Given the description of an element on the screen output the (x, y) to click on. 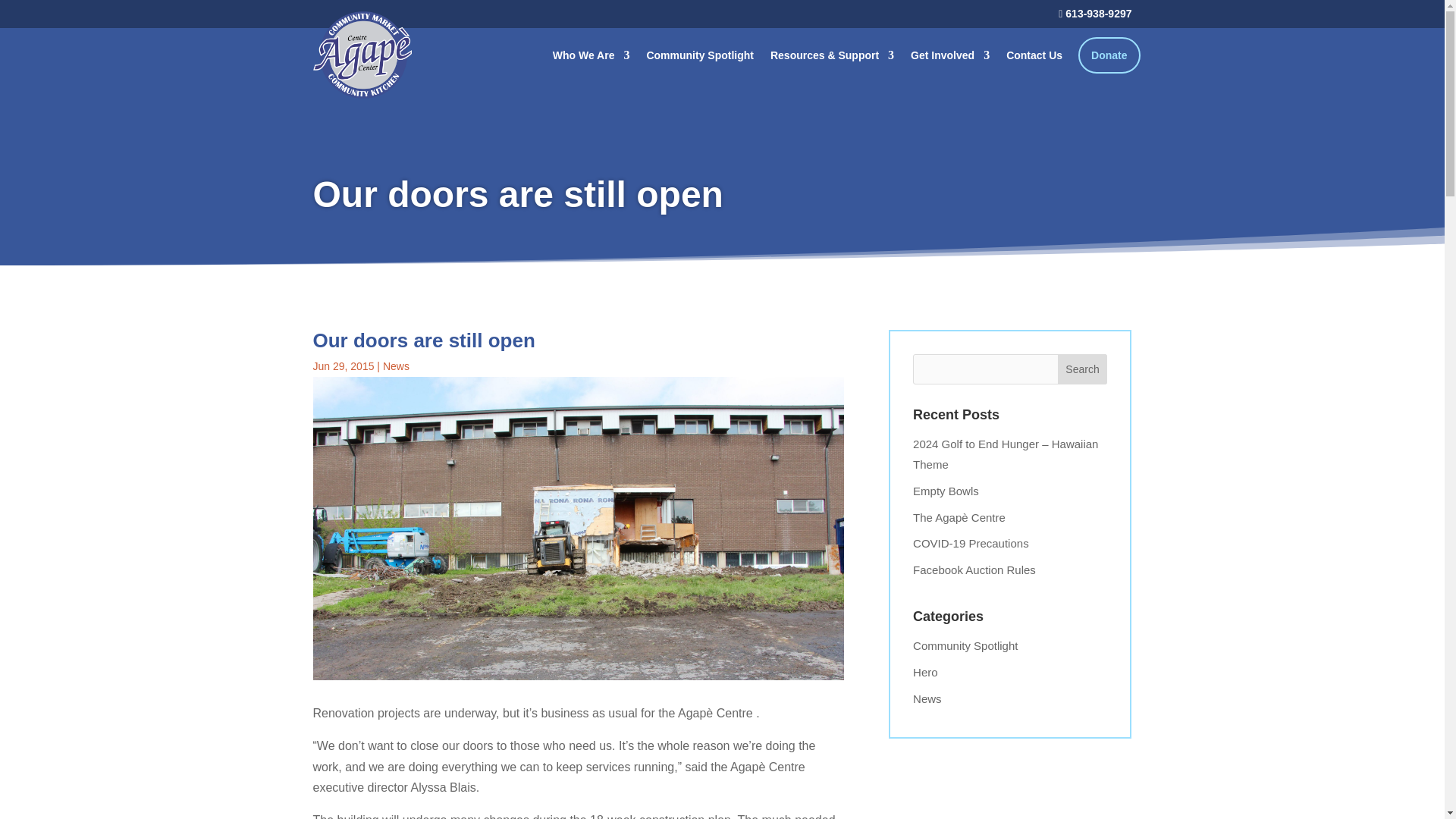
Community Spotlight (700, 54)
Donate (1109, 54)
Get Involved (950, 54)
